Given the description of an element on the screen output the (x, y) to click on. 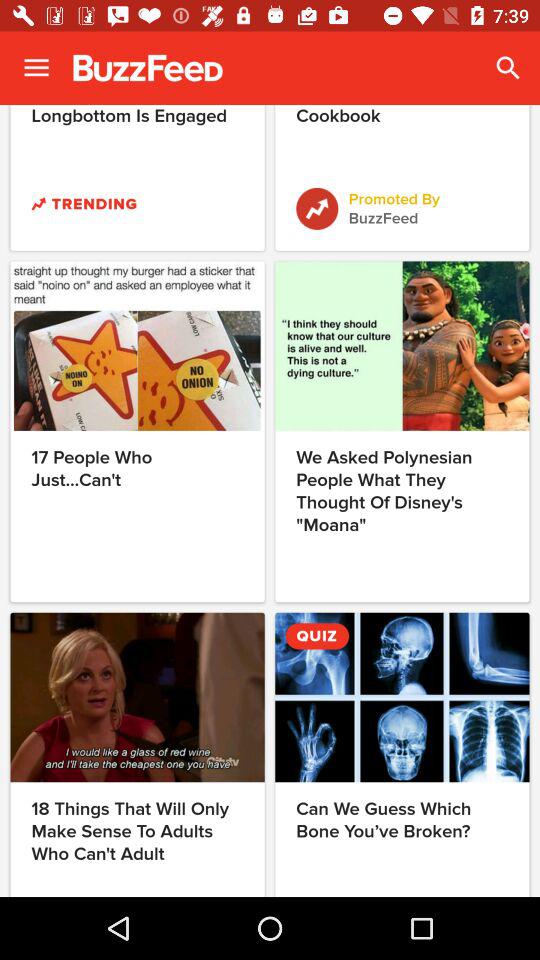
launch item to the right of the god damnit neville (508, 67)
